Given the description of an element on the screen output the (x, y) to click on. 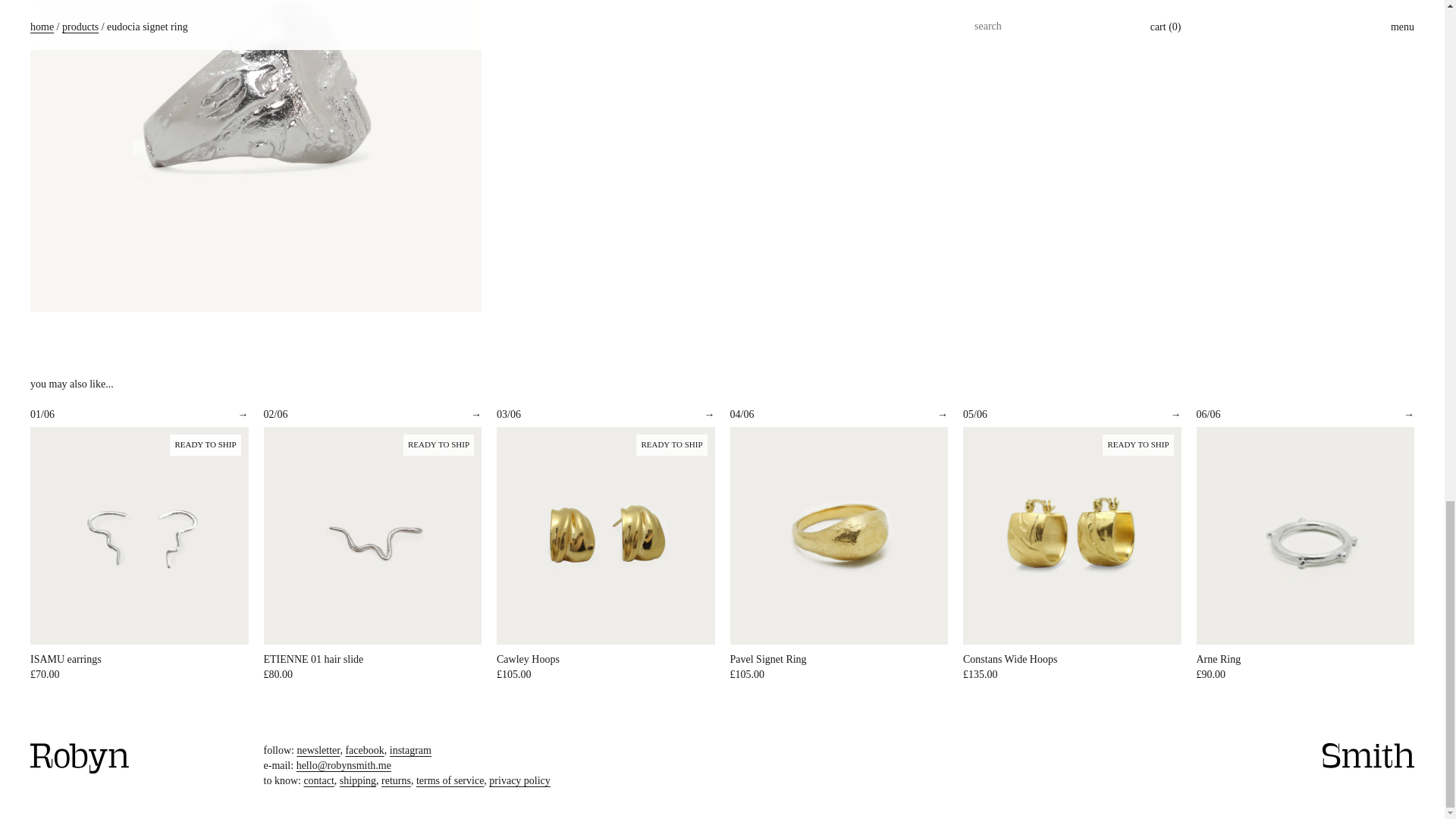
returns (395, 780)
facebook (364, 749)
newsletter (318, 749)
contact (317, 780)
instagram (410, 749)
shipping (357, 780)
